Given the description of an element on the screen output the (x, y) to click on. 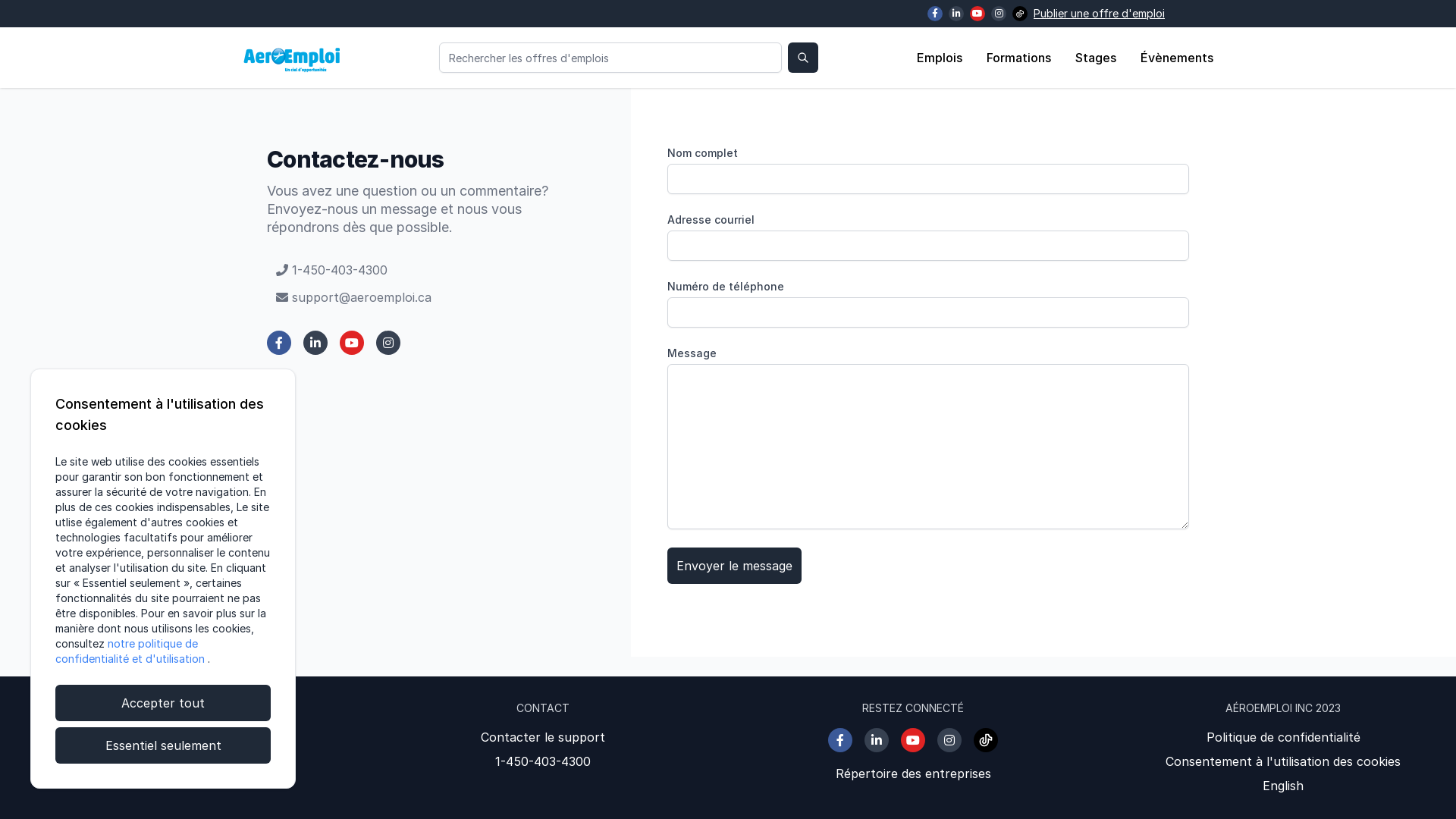
Contacter le support Element type: text (542, 737)
1-450-403-4300 Element type: text (542, 761)
Accepter tout Element type: text (162, 702)
Publier une offre d'emploi Element type: text (1098, 13)
Essentiel seulement Element type: text (162, 745)
Envoyer le message Element type: text (734, 565)
Rechercher Element type: text (802, 57)
Emplois Element type: text (939, 57)
Formations Element type: text (1018, 57)
Stages Element type: text (1095, 57)
